Given the description of an element on the screen output the (x, y) to click on. 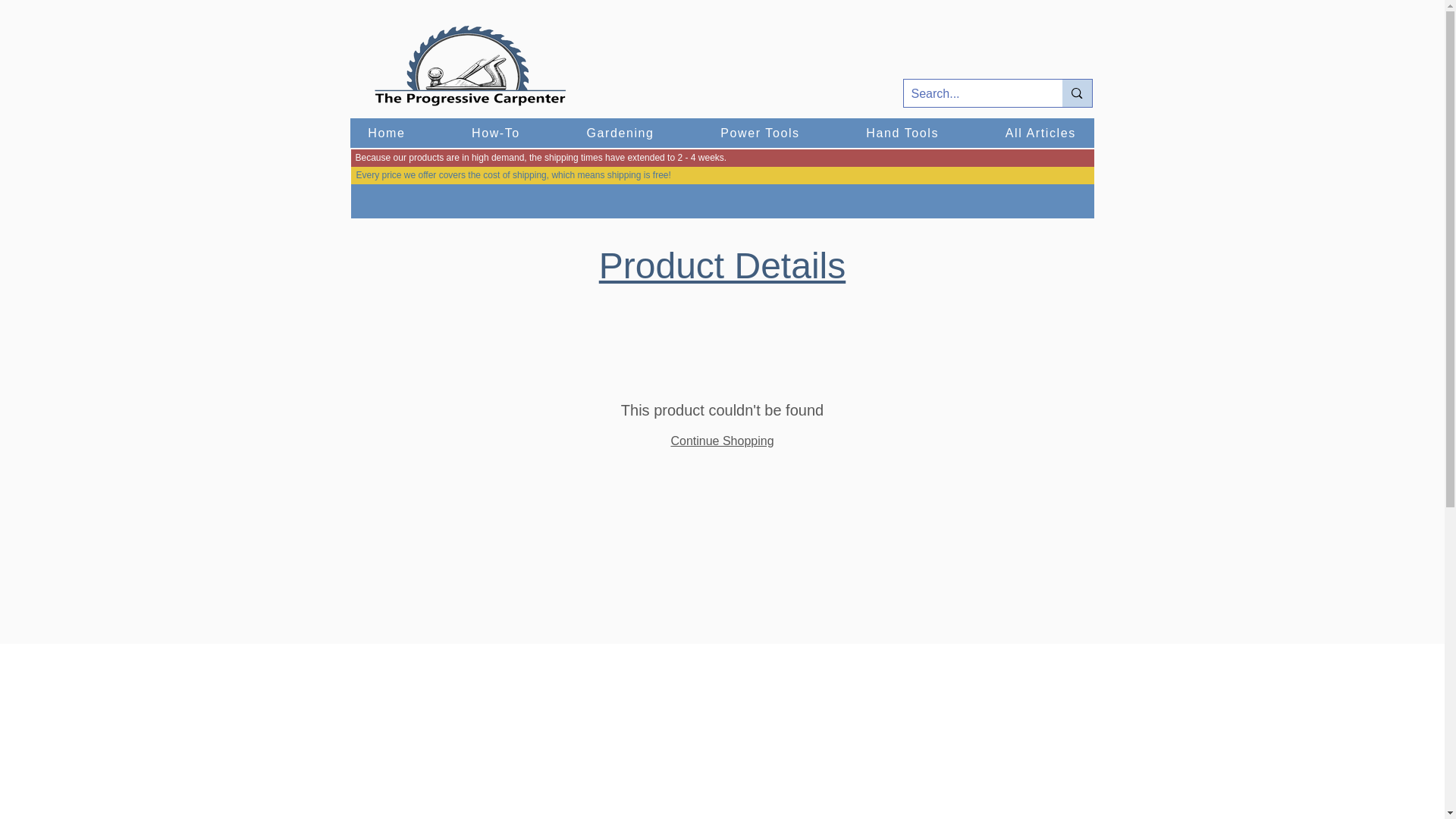
All Articles (1040, 132)
The Progressive Carpenter (470, 66)
Power Tools (758, 132)
Continue Shopping (721, 440)
Gardening (620, 132)
How-To (494, 132)
Home (386, 132)
Hand Tools (902, 132)
